Given the description of an element on the screen output the (x, y) to click on. 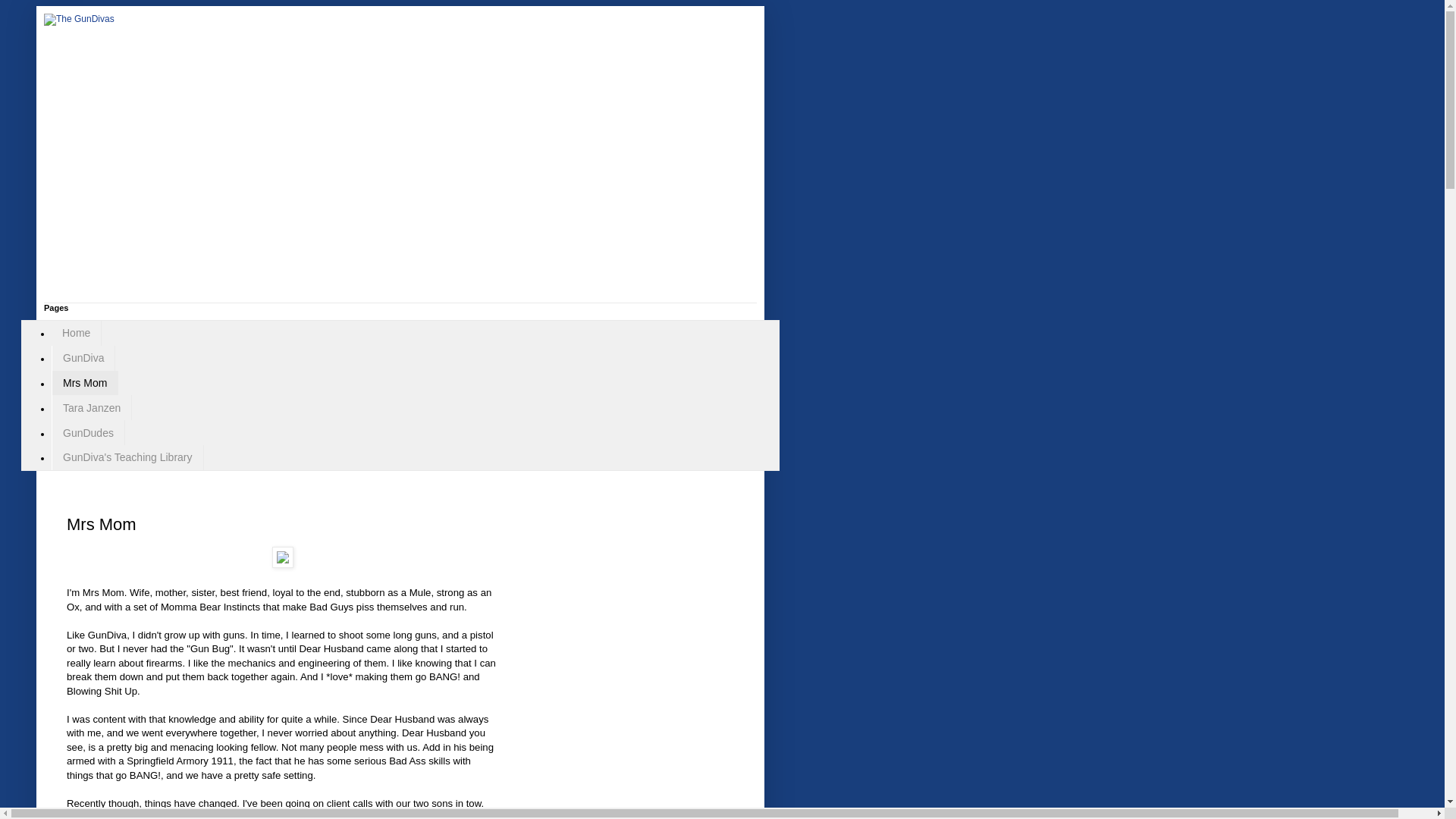
Home (75, 333)
GunDiva (82, 358)
GunDudes (87, 432)
GunDiva's Teaching Library (126, 457)
Tara Janzen (91, 407)
Mrs Mom (83, 383)
